Given the description of an element on the screen output the (x, y) to click on. 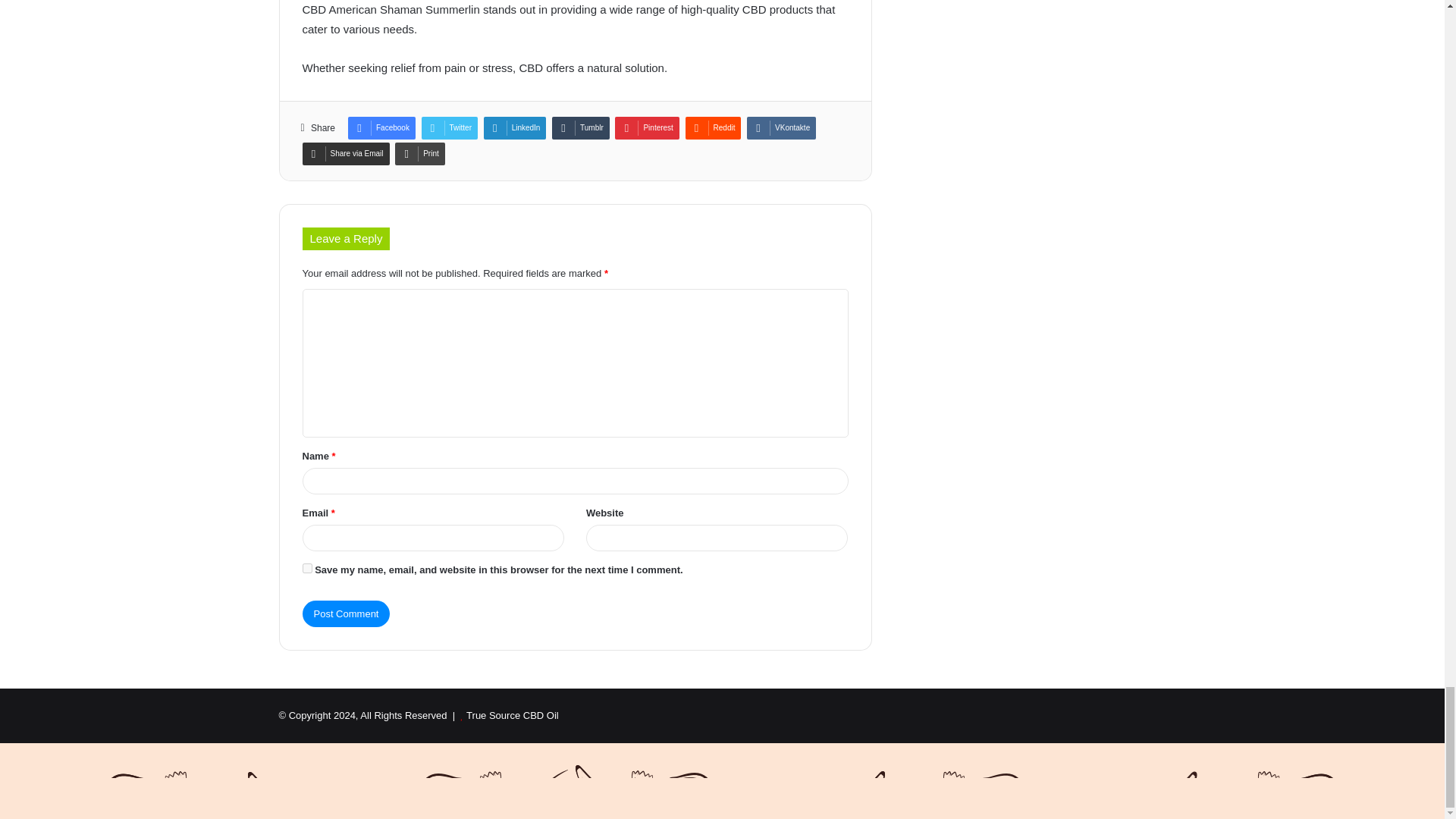
Post Comment (345, 613)
yes (306, 568)
